Given the description of an element on the screen output the (x, y) to click on. 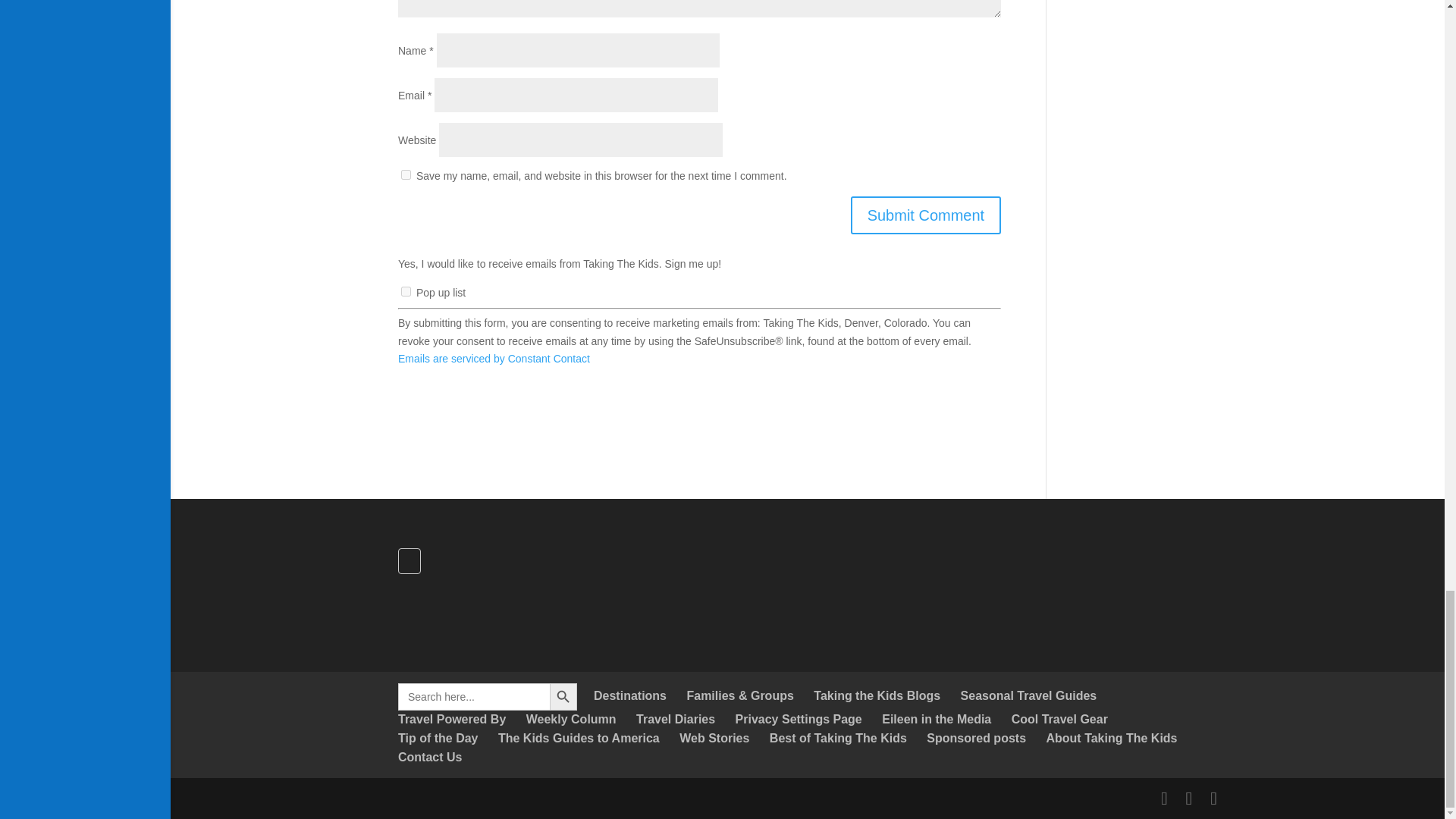
yes (405, 174)
Submit Comment (925, 215)
679276e2-a18b-11ec-9047-fa163ea6032f (405, 291)
